Given the description of an element on the screen output the (x, y) to click on. 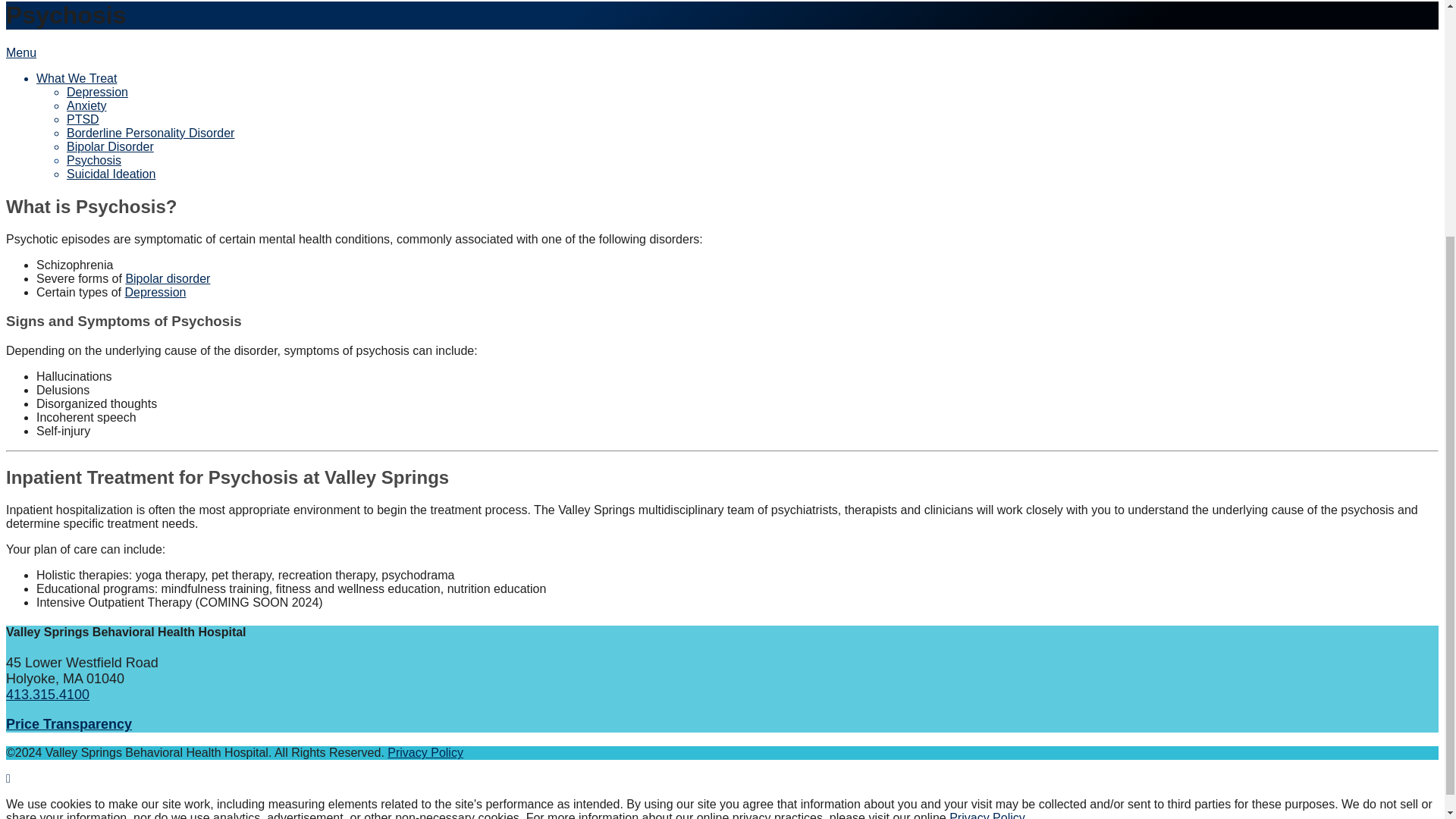
Bipolar disorder (167, 278)
Anxiety (86, 105)
Depression (154, 291)
What We Treat (76, 78)
Price Transparency (68, 724)
Suicidal Ideation (110, 173)
Menu (20, 51)
413.315.4100 (46, 694)
Bipolar Disorder (110, 146)
Privacy Policy (425, 752)
Depression (97, 91)
Psychosis (93, 160)
Borderline Personality Disorder (150, 132)
PTSD (82, 119)
